Given the description of an element on the screen output the (x, y) to click on. 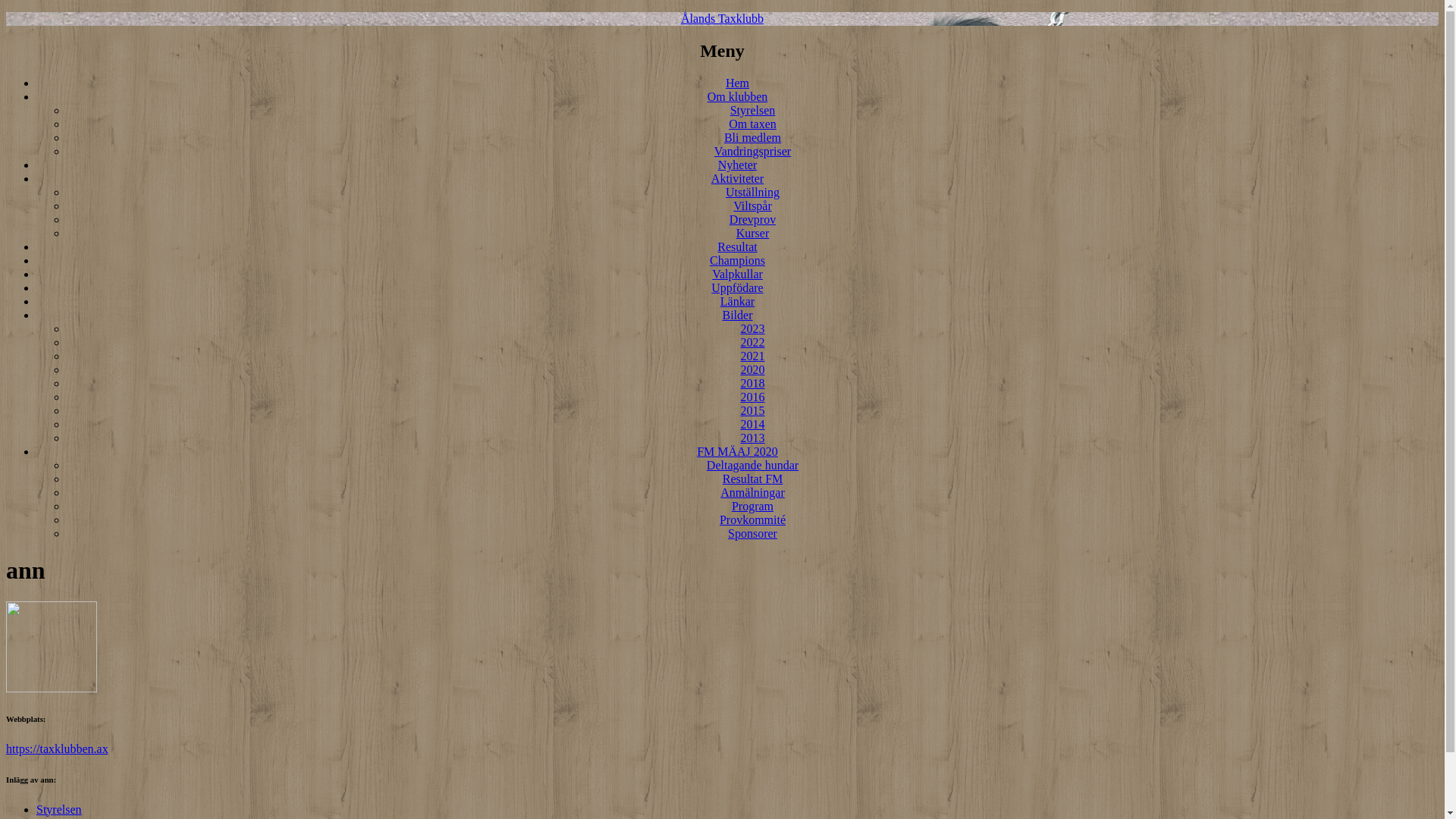
Om klubben Element type: text (737, 96)
Resultat Element type: text (736, 246)
2013 Element type: text (752, 437)
2018 Element type: text (752, 382)
Aktiviteter Element type: text (737, 178)
2014 Element type: text (752, 423)
Drevprov Element type: text (752, 219)
Resultat FM Element type: text (752, 478)
https://taxklubben.ax Element type: text (57, 748)
Bilder Element type: text (736, 314)
Nyheter Element type: text (737, 164)
Kurser Element type: text (752, 232)
Program Element type: text (752, 505)
2021 Element type: text (752, 355)
Vandringspriser Element type: text (752, 150)
2023 Element type: text (752, 328)
Deltagande hundar Element type: text (752, 464)
Champions Element type: text (737, 260)
Om taxen Element type: text (752, 123)
2016 Element type: text (752, 396)
Bli medlem Element type: text (752, 137)
Valpkullar Element type: text (737, 273)
Hem Element type: text (737, 82)
2015 Element type: text (752, 410)
2020 Element type: text (752, 369)
Styrelsen Element type: text (752, 109)
Styrelsen Element type: text (58, 809)
2022 Element type: text (752, 341)
Sponsorer Element type: text (752, 533)
